Given the description of an element on the screen output the (x, y) to click on. 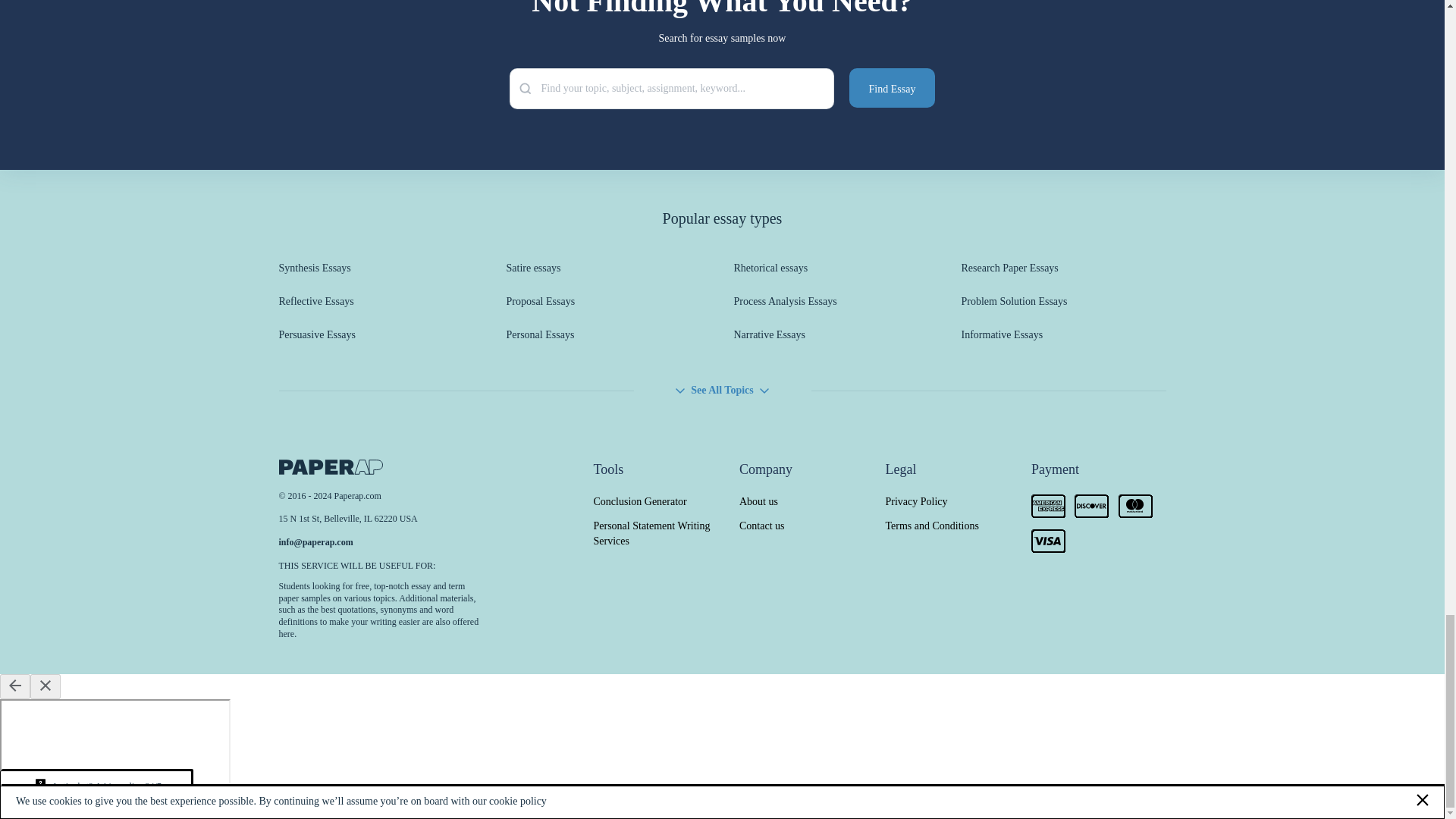
Find Essay (892, 87)
